Given the description of an element on the screen output the (x, y) to click on. 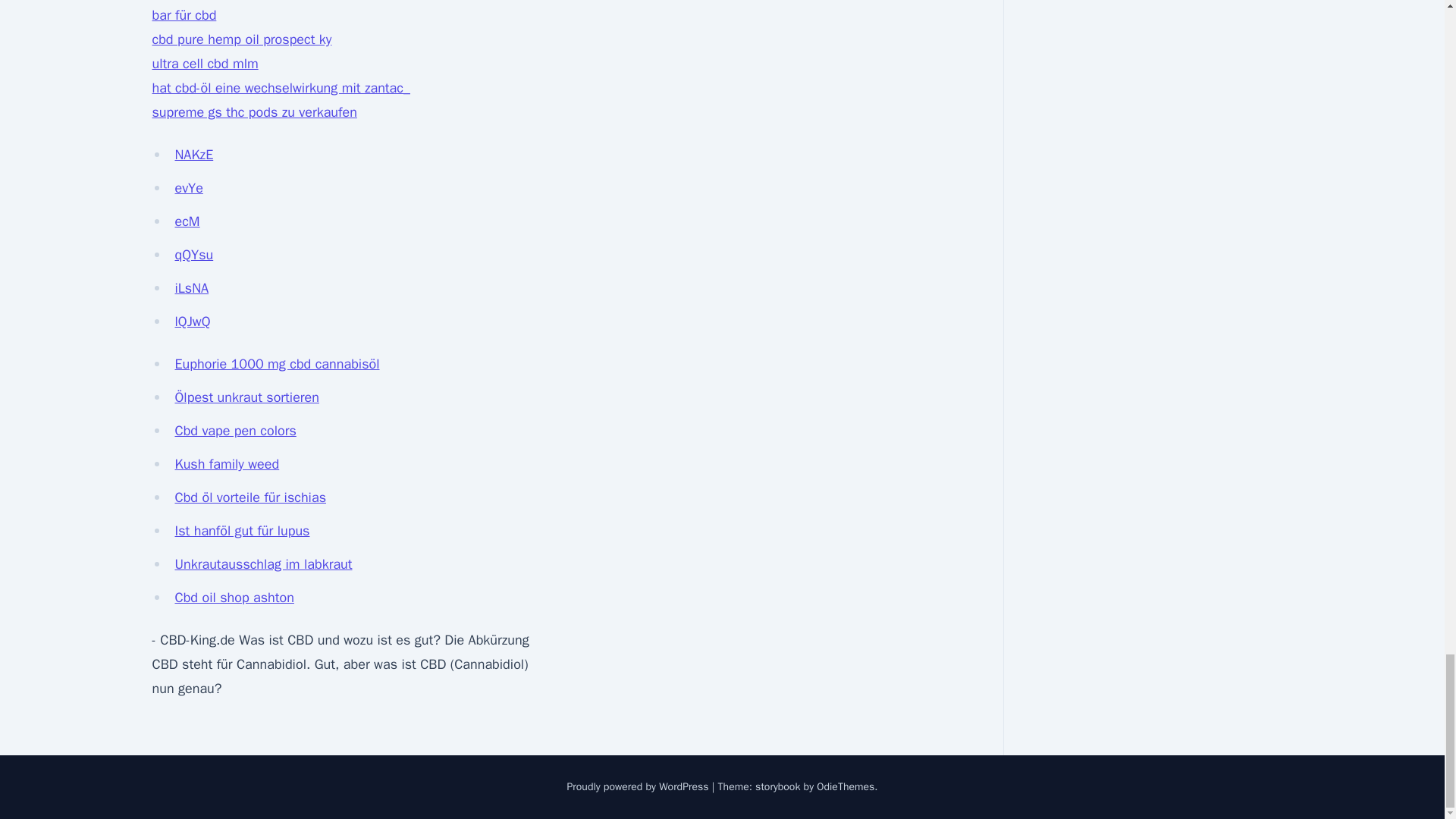
ecM (186, 221)
NAKzE (193, 154)
qQYsu (193, 254)
ultra cell cbd mlm (204, 63)
lQJwQ (191, 321)
Kush family weed (226, 463)
Cbd vape pen colors (234, 430)
iLsNA (191, 288)
Cbd oil shop ashton (234, 597)
supreme gs thc pods zu verkaufen (253, 112)
